Given the description of an element on the screen output the (x, y) to click on. 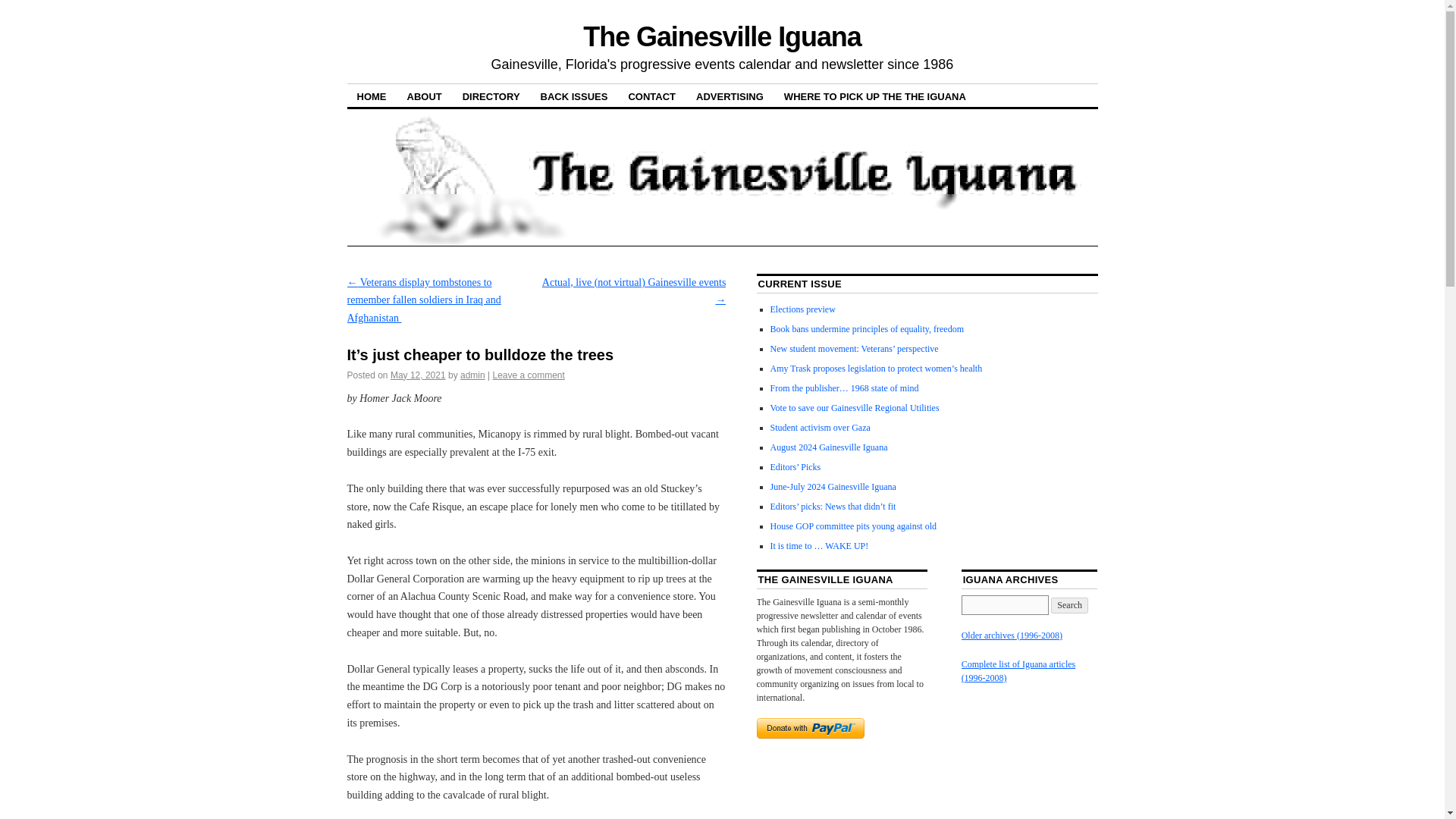
CONTACT (651, 96)
May 12, 2021 (417, 375)
ABOUT (424, 96)
Vote to save our Gainesville Regional Utilities (854, 407)
DIRECTORY (490, 96)
Book bans undermine principles of equality, freedom (866, 328)
View all posts by admin (472, 375)
House GOP committee pits young against old (853, 525)
Search (1069, 605)
Search (1069, 605)
June-July 2024 Gainesville Iguana (833, 486)
The Gainesville Iguana (721, 36)
The Gainesville Iguana (721, 36)
August 2024 Gainesville Iguana (829, 447)
Elections preview (802, 308)
